Given the description of an element on the screen output the (x, y) to click on. 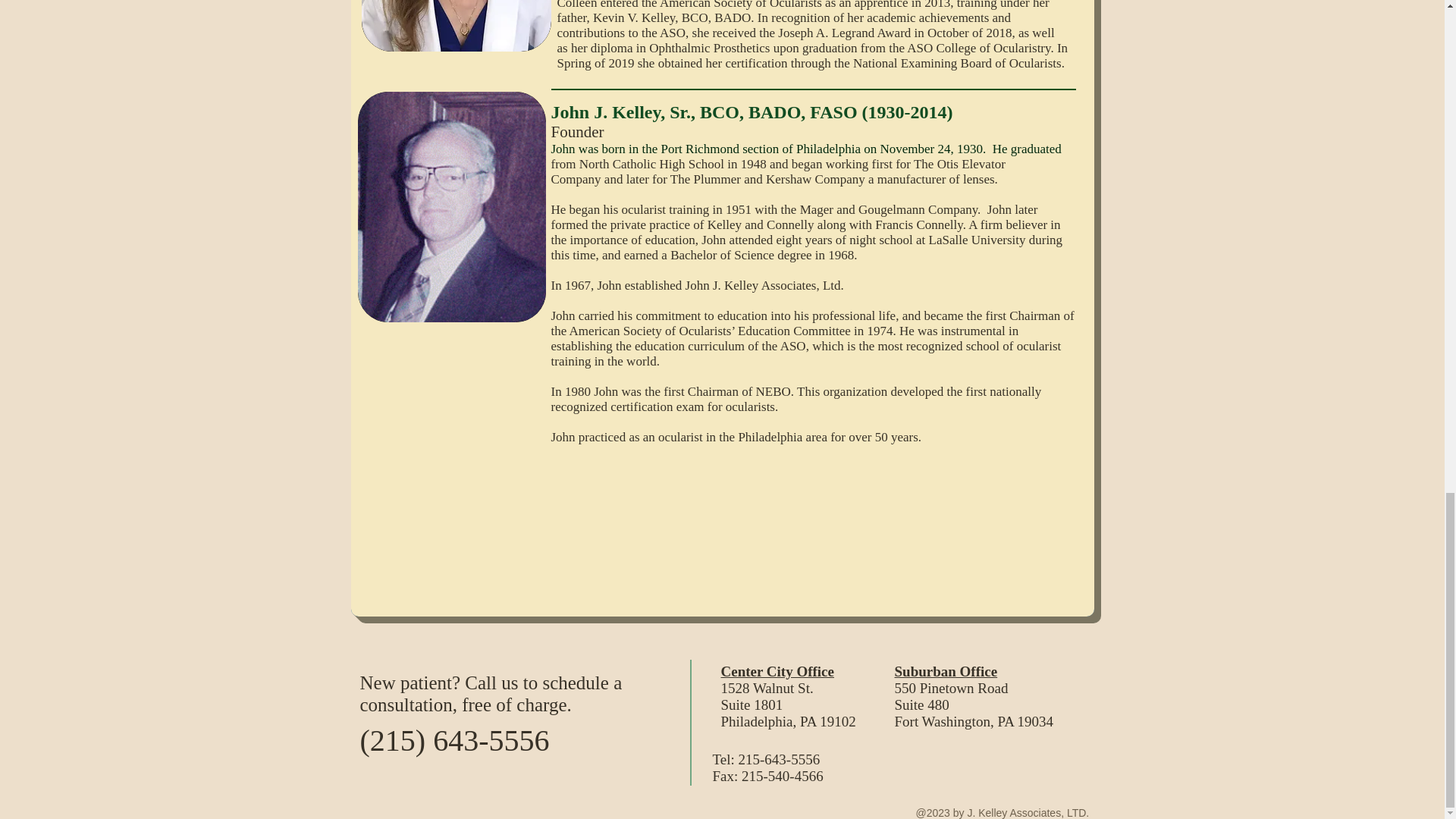
Center City Office (776, 671)
Suburban Office (946, 671)
215-643-5556 (779, 759)
